Given the description of an element on the screen output the (x, y) to click on. 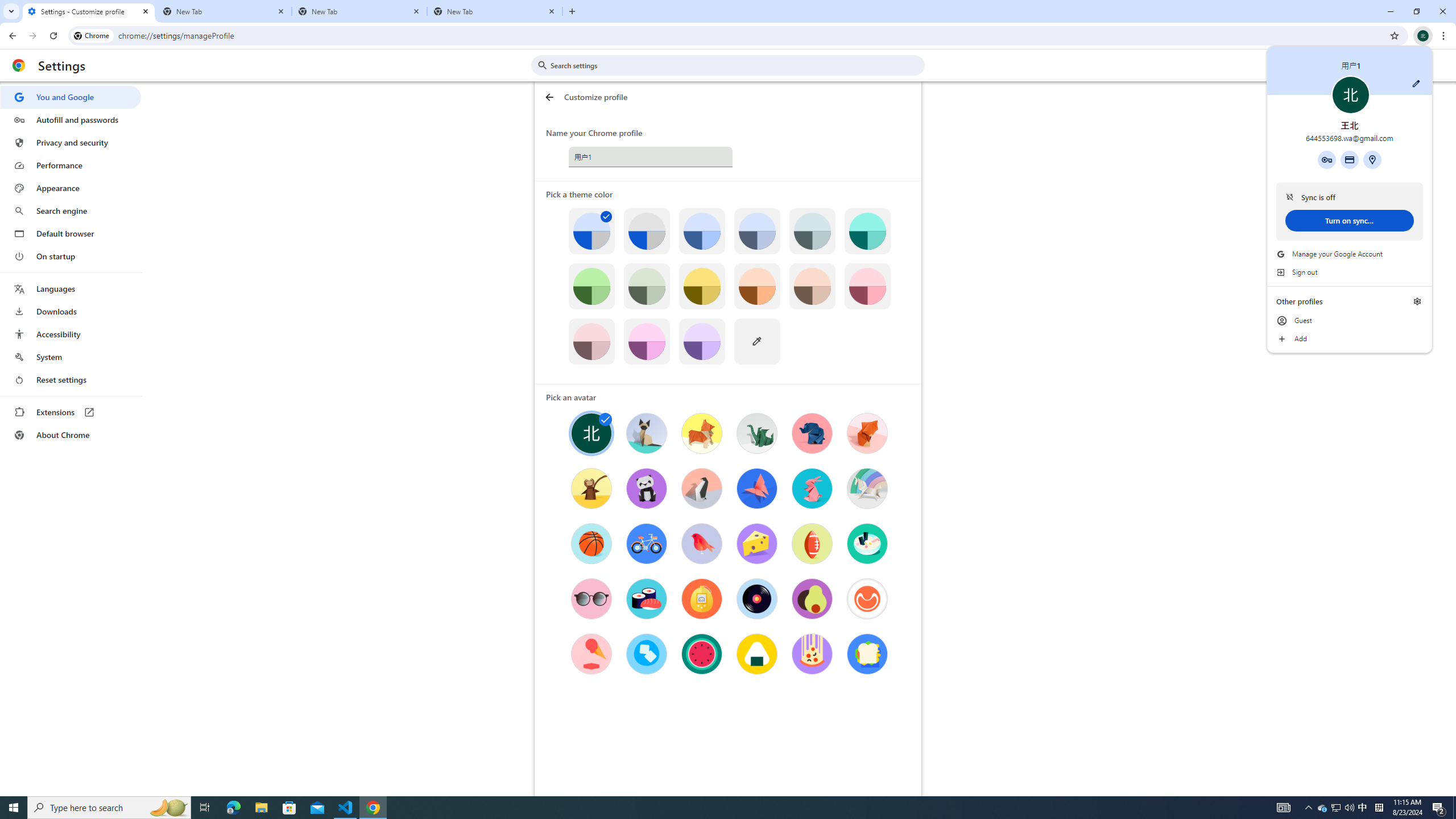
Search settings (735, 65)
About Chrome (70, 434)
User Promoted Notification Area (1336, 807)
Q2790: 100% (1349, 807)
Performance (70, 164)
Customize profile (1415, 83)
New Tab (1322, 807)
File Explorer (359, 11)
